Given the description of an element on the screen output the (x, y) to click on. 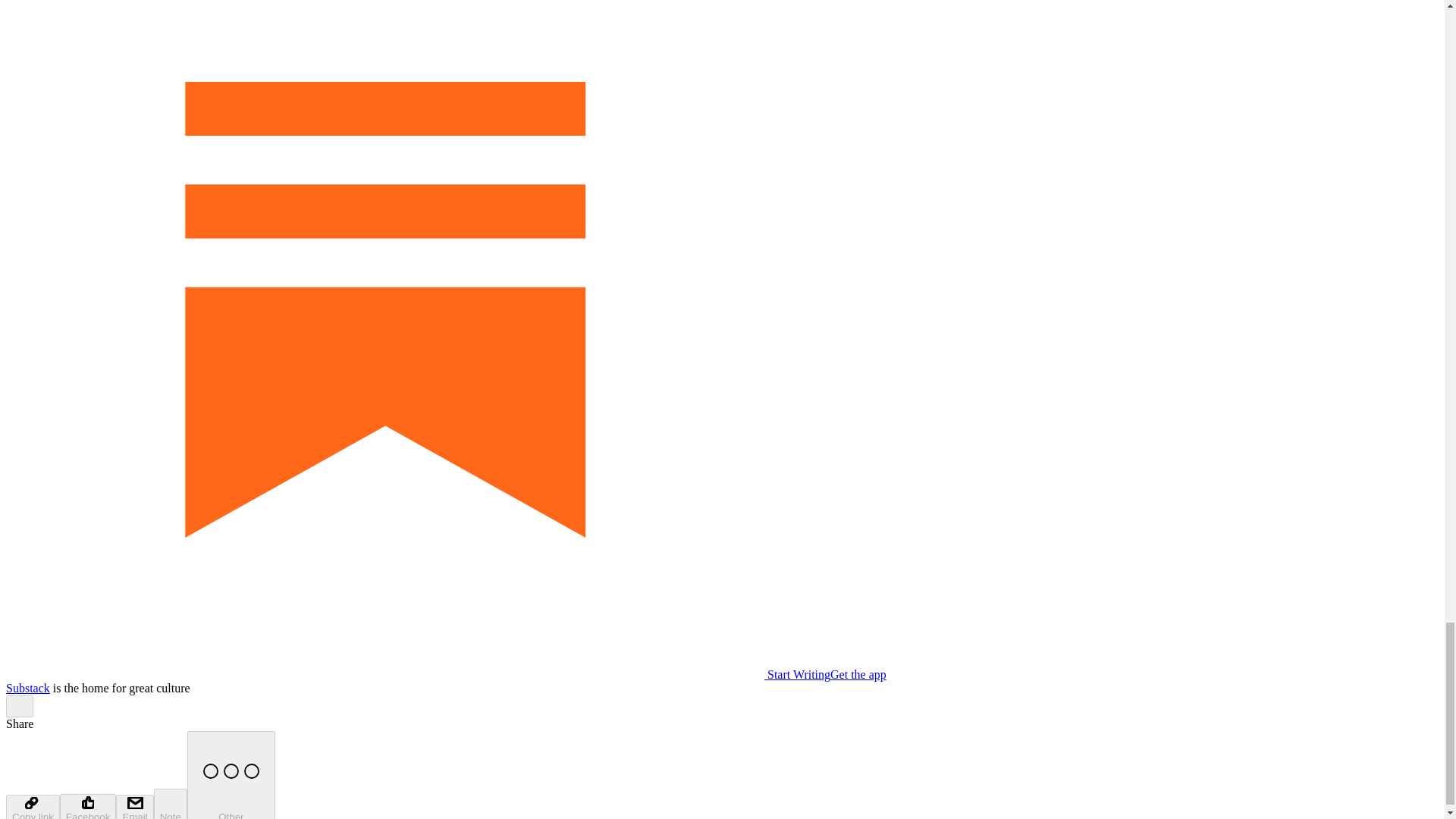
Start Writing (417, 674)
